Given the description of an element on the screen output the (x, y) to click on. 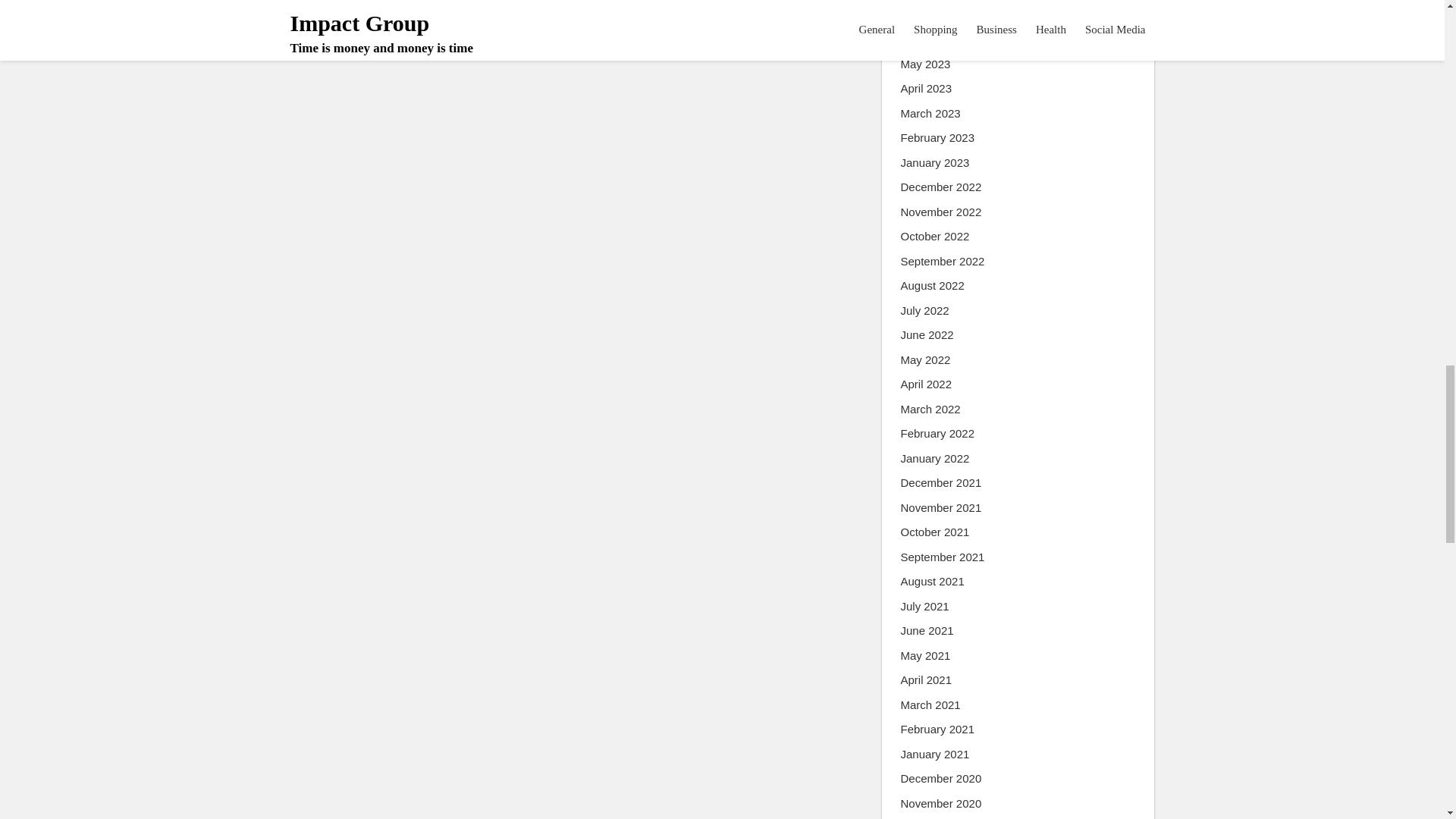
April 2023 (926, 88)
March 2023 (930, 113)
February 2023 (938, 138)
June 2023 (927, 39)
July 2023 (925, 15)
May 2023 (925, 64)
